Given the description of an element on the screen output the (x, y) to click on. 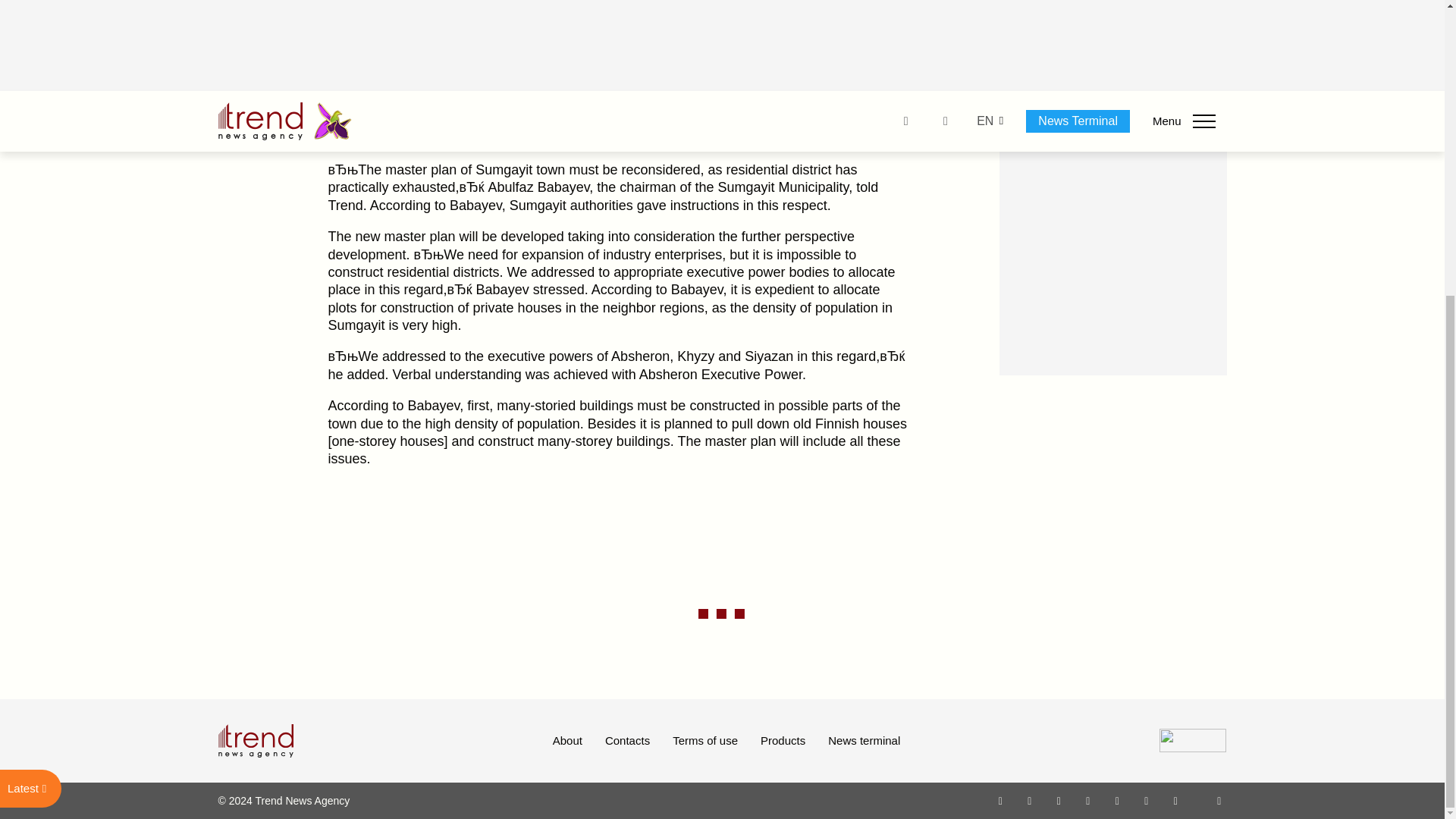
RSS Feed (1219, 800)
LinkedIn (1146, 800)
Whatsapp (1000, 800)
Twitter (1059, 800)
Facebook (1029, 800)
Telegram (1117, 800)
Android App (1176, 800)
Youtube (1088, 800)
